Given the description of an element on the screen output the (x, y) to click on. 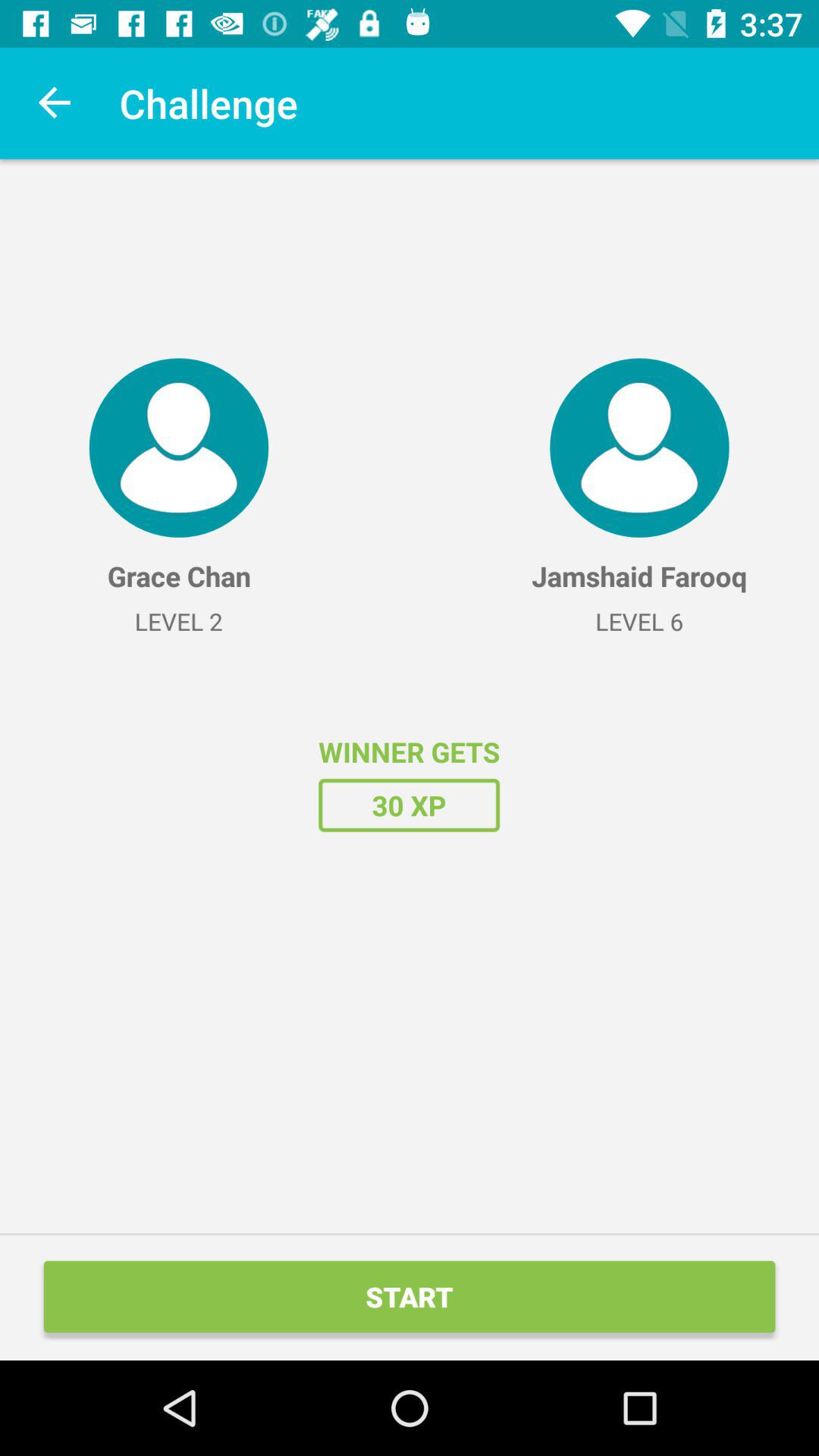
launch the icon at the top right corner (639, 447)
